Given the description of an element on the screen output the (x, y) to click on. 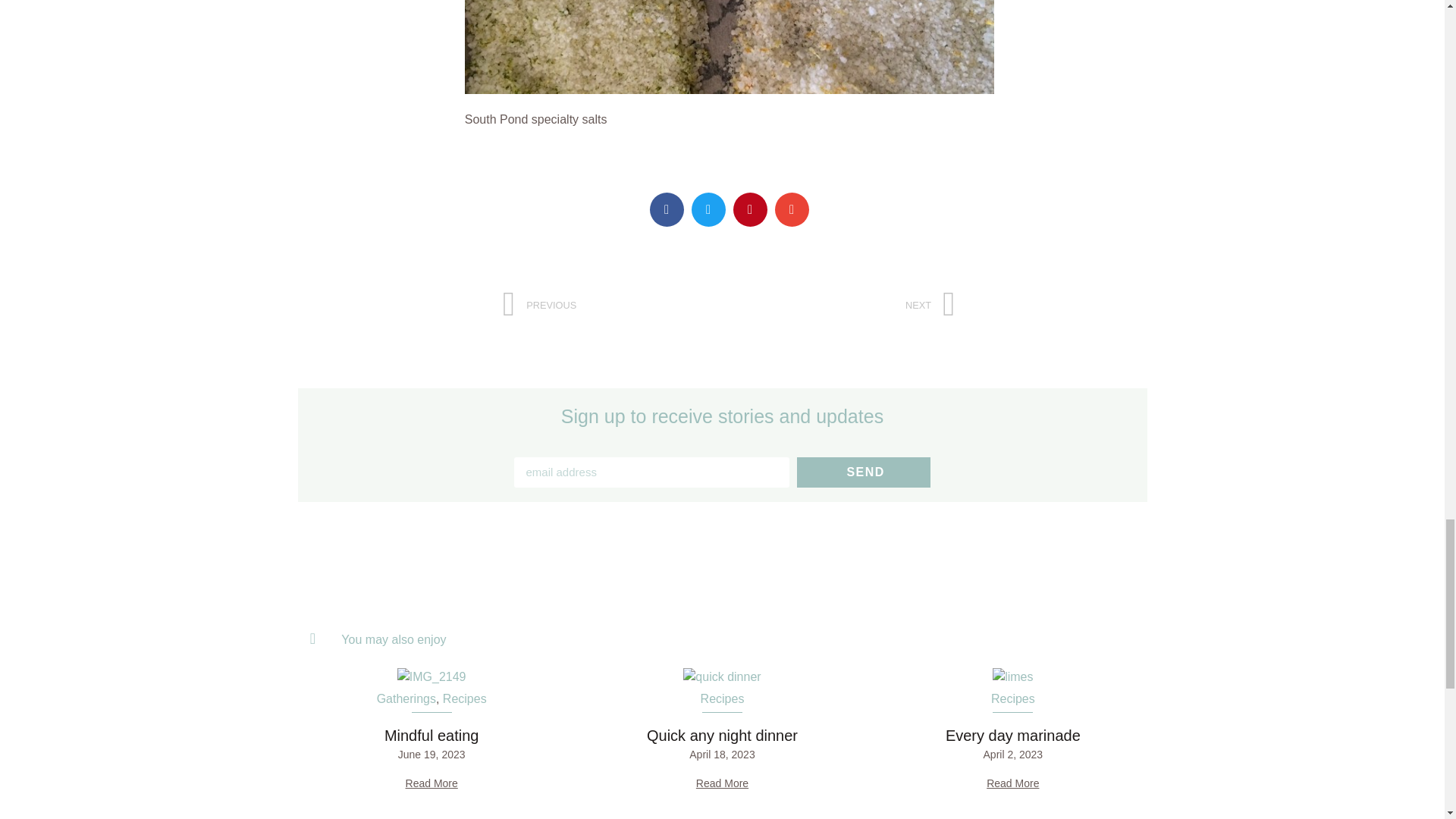
limes (1012, 677)
salmond (721, 677)
